Given the description of an element on the screen output the (x, y) to click on. 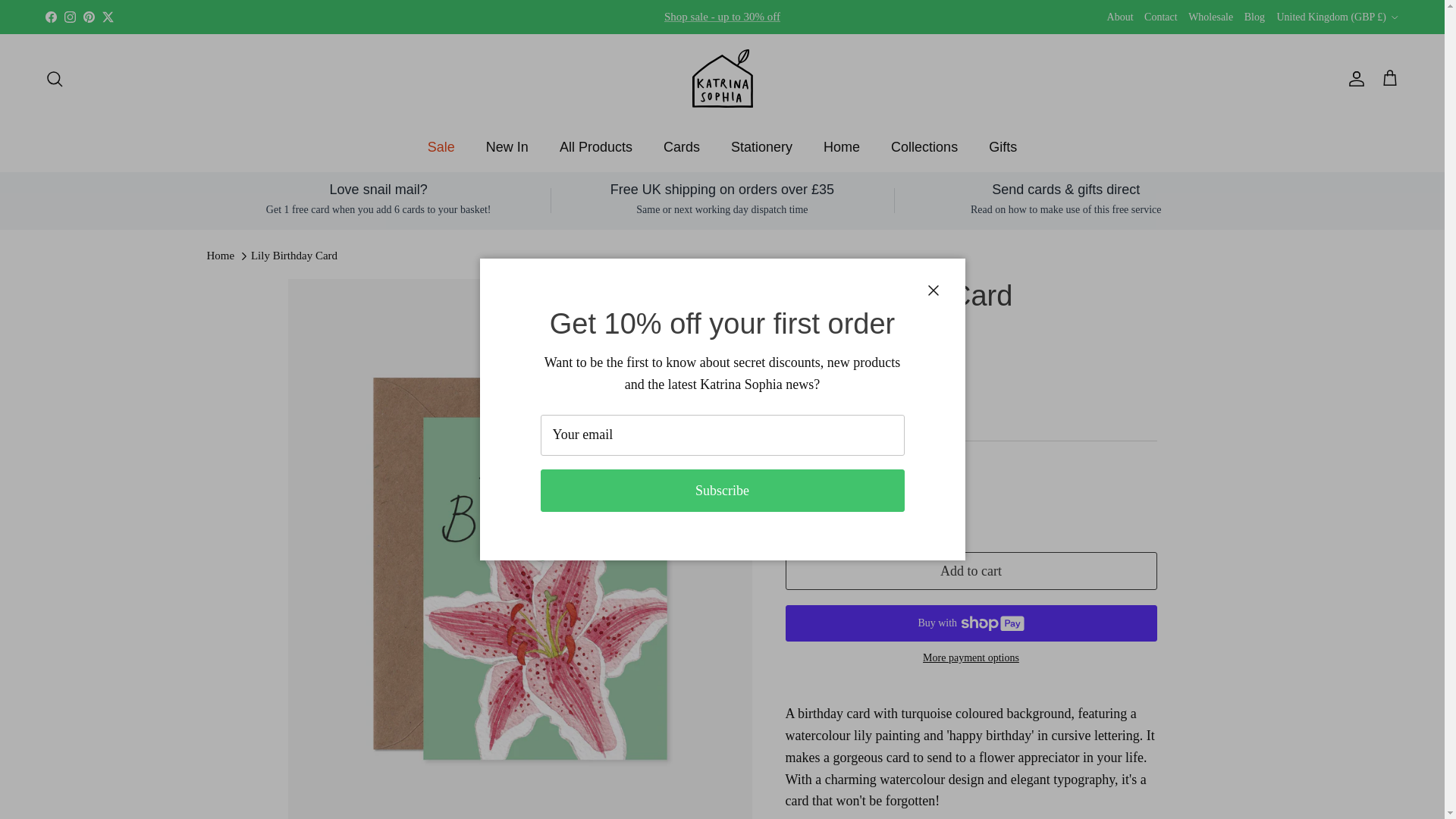
About (1120, 17)
Sale (721, 16)
Cards (681, 147)
Account (1352, 78)
All Products (596, 147)
Search (54, 78)
Cart (1389, 77)
Pinterest (88, 16)
Katrina Sophia (721, 78)
Facebook (50, 16)
Instagram (69, 16)
1 (847, 503)
Twitter (107, 16)
Katrina Sophia on Pinterest (88, 16)
New In (506, 147)
